Given the description of an element on the screen output the (x, y) to click on. 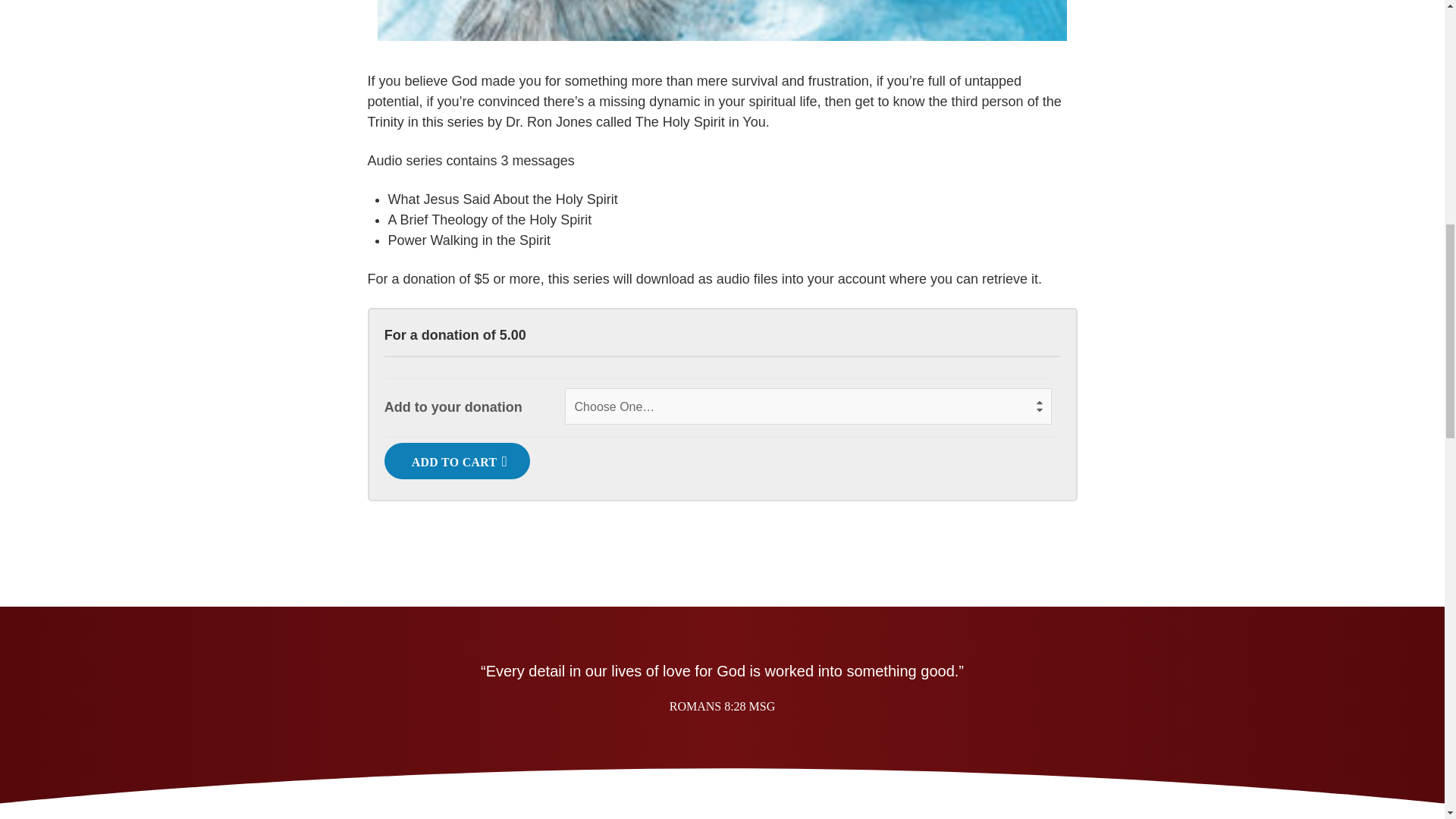
ADD TO CART (456, 461)
